Given the description of an element on the screen output the (x, y) to click on. 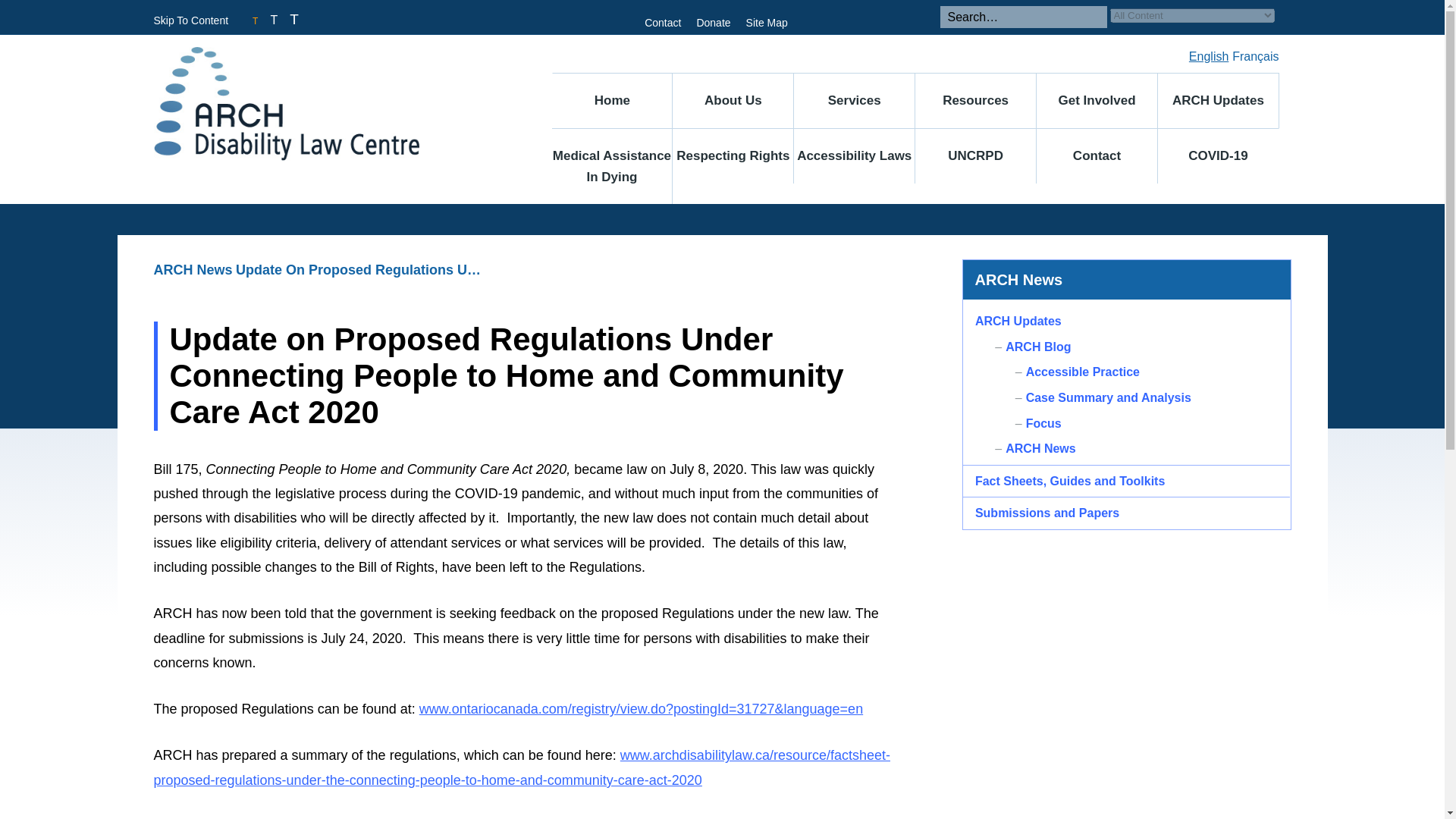
Search (1281, 15)
Contact (663, 22)
Skip To Content (190, 20)
Resources (975, 99)
Home (611, 99)
Services (854, 99)
ARCH Disability Law Centre (323, 103)
Site Map (766, 22)
Donate (712, 22)
About Us (732, 99)
English (1206, 56)
